Given the description of an element on the screen output the (x, y) to click on. 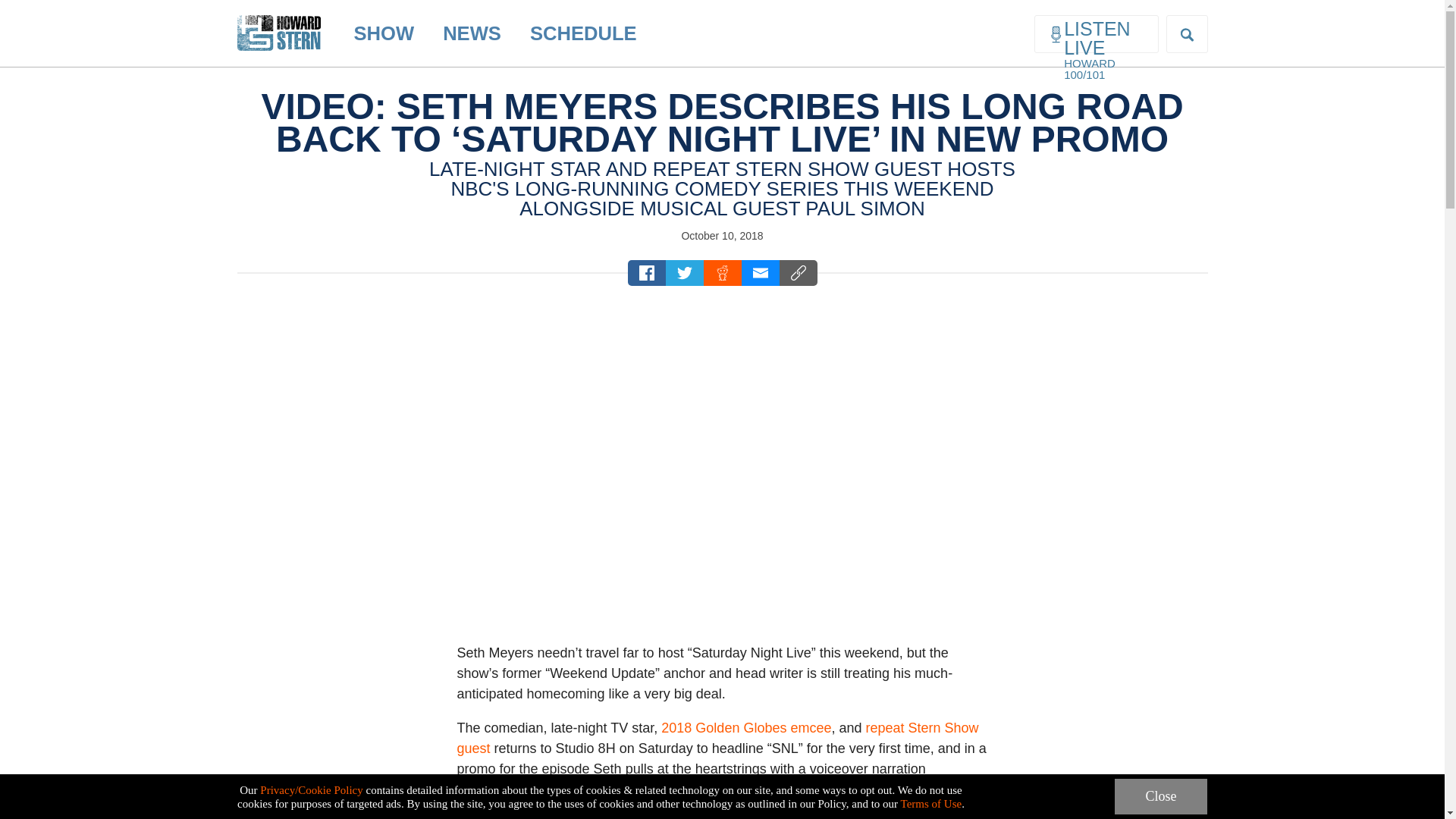
MAGNIFYING GLASS (1187, 34)
Search (24, 9)
MAGNIFYING GLASS (1185, 34)
NEWS (471, 33)
SNL Host Seth Meyers Comes Back Home to Studio 8H (721, 452)
Howard Stern (277, 20)
repeat Stern Show guest (717, 737)
SCHEDULE (582, 33)
2018 Golden Globes emcee (746, 727)
SHOW (384, 33)
